Given the description of an element on the screen output the (x, y) to click on. 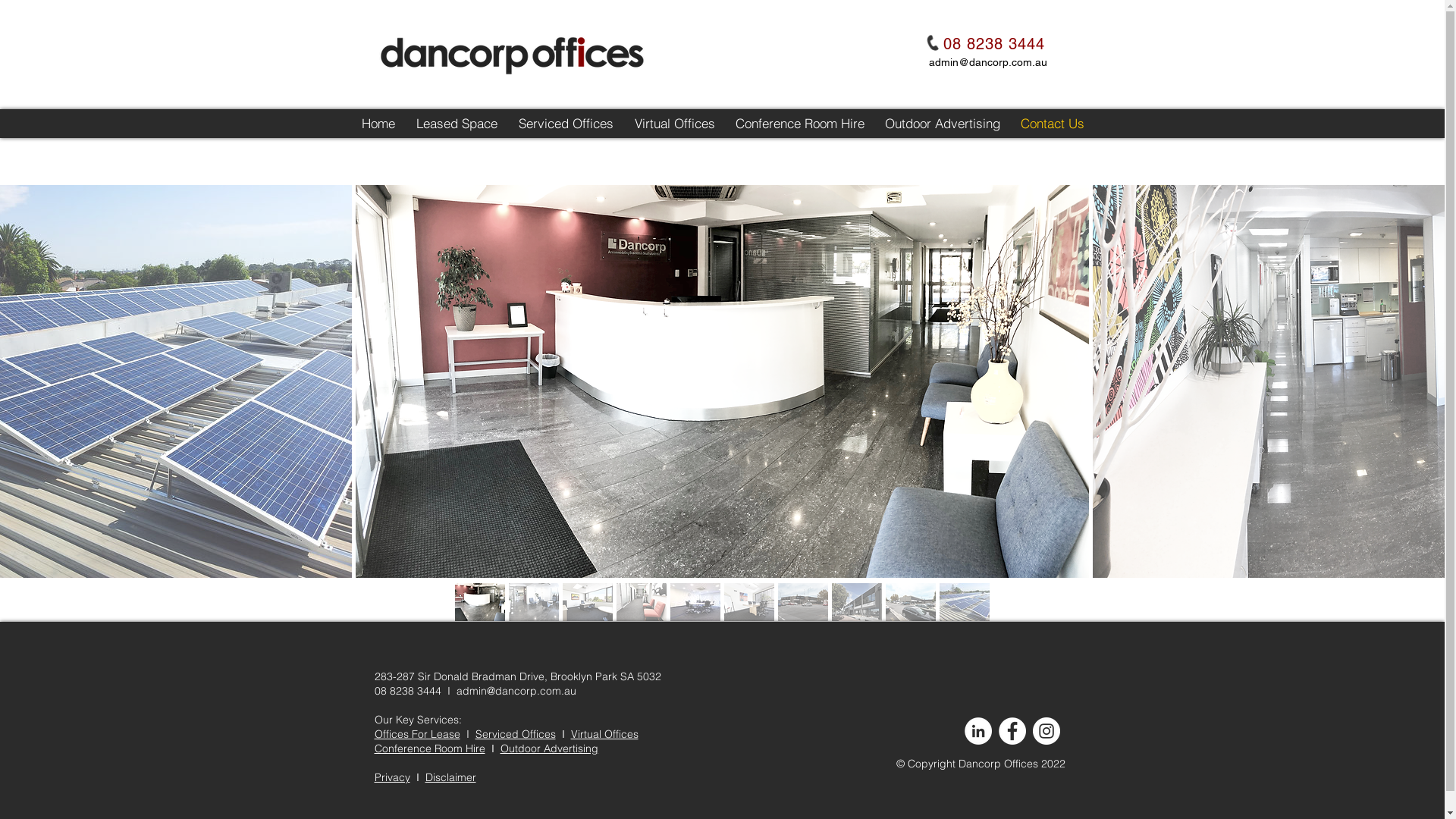
Serviced Offices Element type: text (514, 733)
Offices For Lease Element type: text (417, 733)
Home Element type: text (378, 123)
   Element type: text (488, 748)
Privacy Element type: text (392, 777)
Conference Room Hire Element type: text (429, 748)
Disclaimer Element type: text (449, 777)
admin@dancorp.com.au Element type: text (987, 62)
Conference Room Hire Element type: text (798, 123)
Outdoor Advertising Element type: text (942, 123)
Virtual Offices Element type: text (674, 123)
I  Outdoor Advertising Element type: text (544, 747)
Leased Space Element type: text (457, 123)
Serviced Offices Element type: text (565, 123)
Virtual Offices Element type: text (603, 733)
admin@dancorp.com.au Element type: text (516, 690)
Contact Us Element type: text (1051, 123)
